Given the description of an element on the screen output the (x, y) to click on. 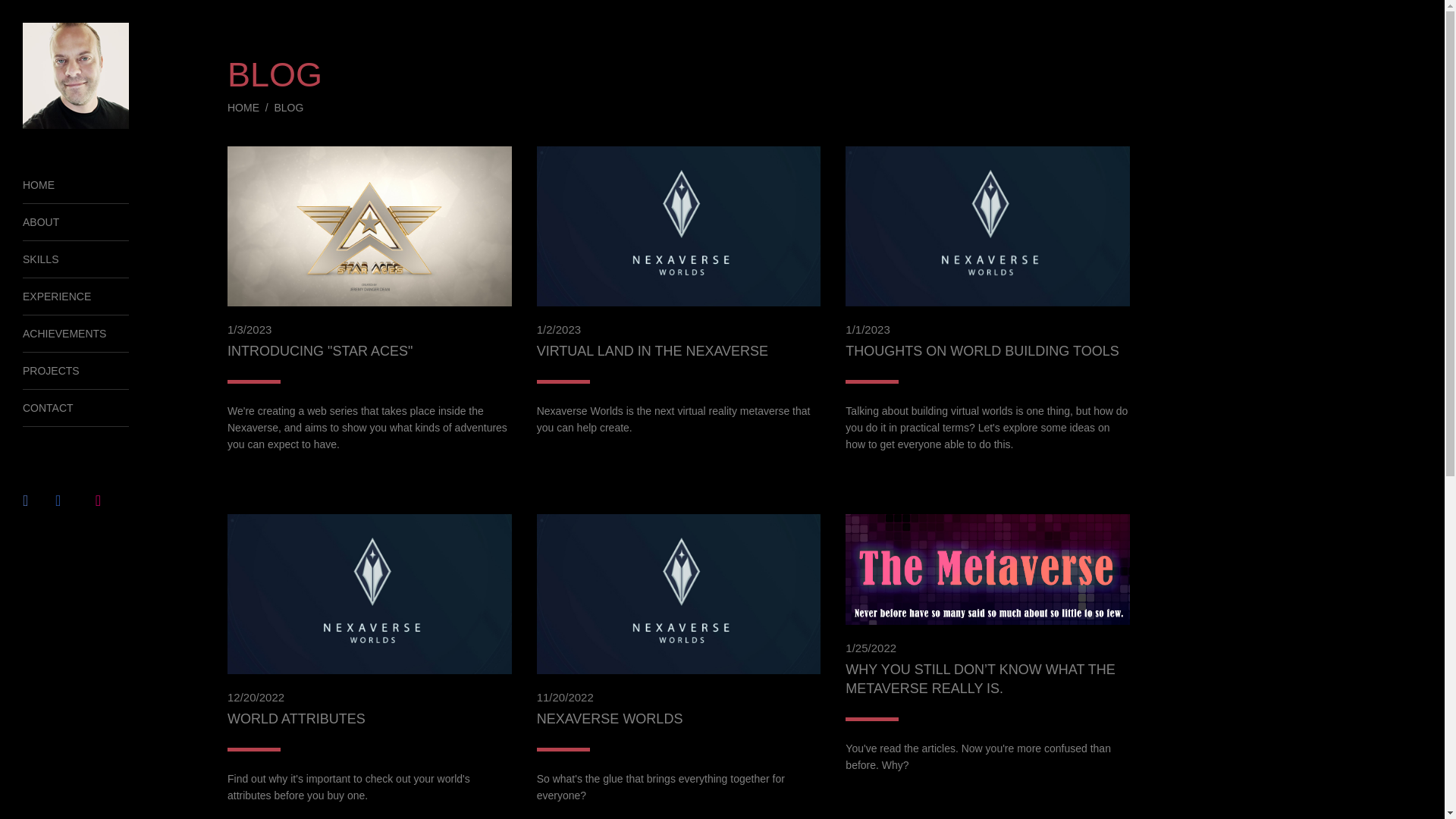
CONTACT (76, 407)
HOME (76, 185)
THOUGHTS ON WORLD BUILDING TOOLS (981, 350)
WORLD ATTRIBUTES (296, 718)
VIRTUAL LAND IN THE NEXAVERSE (652, 350)
ABOUT (76, 221)
SKILLS (76, 259)
ACHIEVEMENTS (76, 333)
NEXAVERSE WORLDS (609, 718)
EXPERIENCE (76, 296)
